Given the description of an element on the screen output the (x, y) to click on. 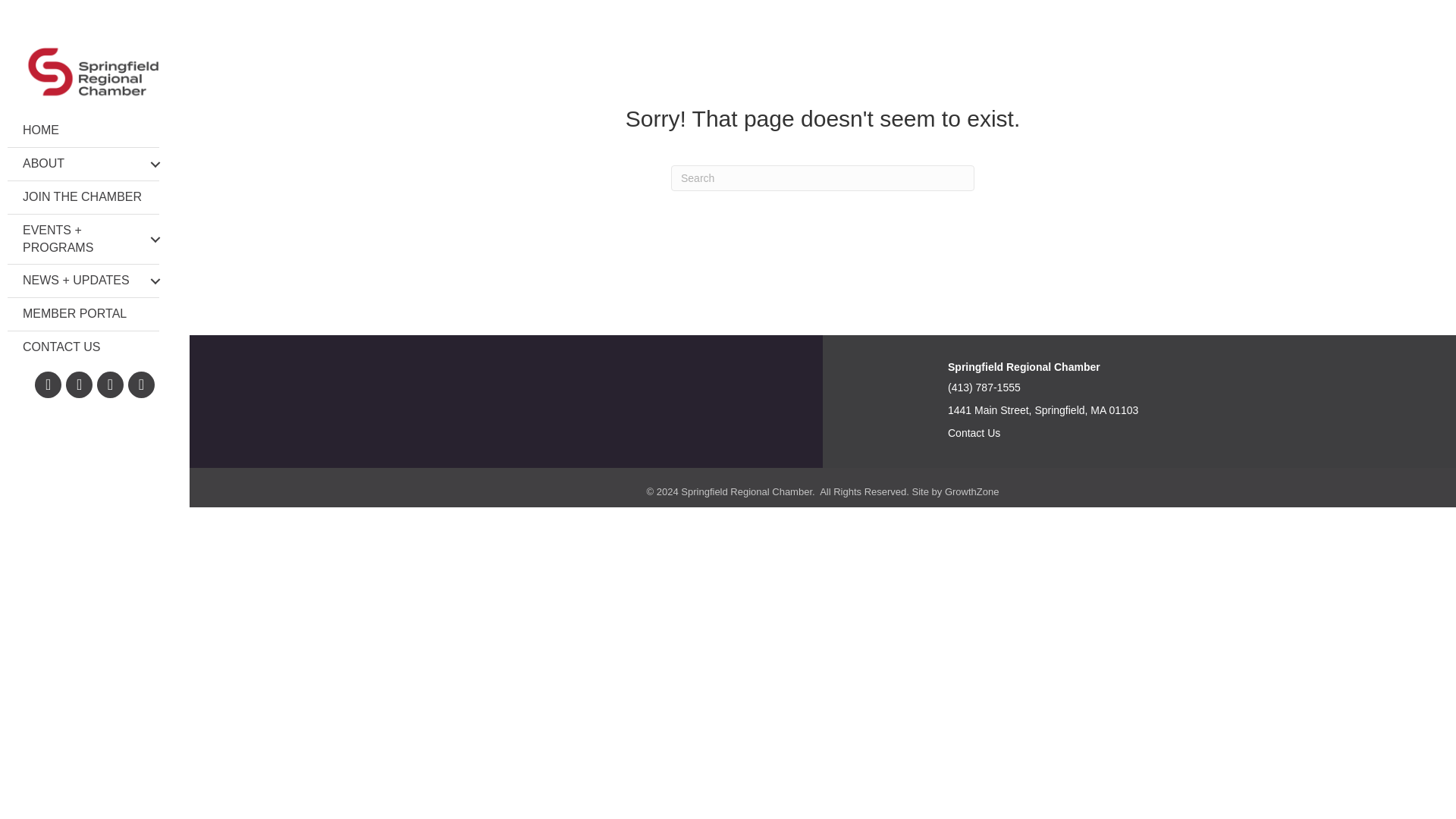
MEMBER PORTAL (82, 314)
Type and press Enter to search. (822, 177)
springfield-chamber-logo-full-800x300 (95, 72)
JOIN THE CHAMBER (82, 196)
Contact Us (973, 432)
HOME (82, 130)
GrowthZone (971, 491)
1441 Main Street, Springfield, MA 01103 (1042, 410)
Springfield Regional Chamber (1023, 367)
CONTACT US (82, 347)
